Given the description of an element on the screen output the (x, y) to click on. 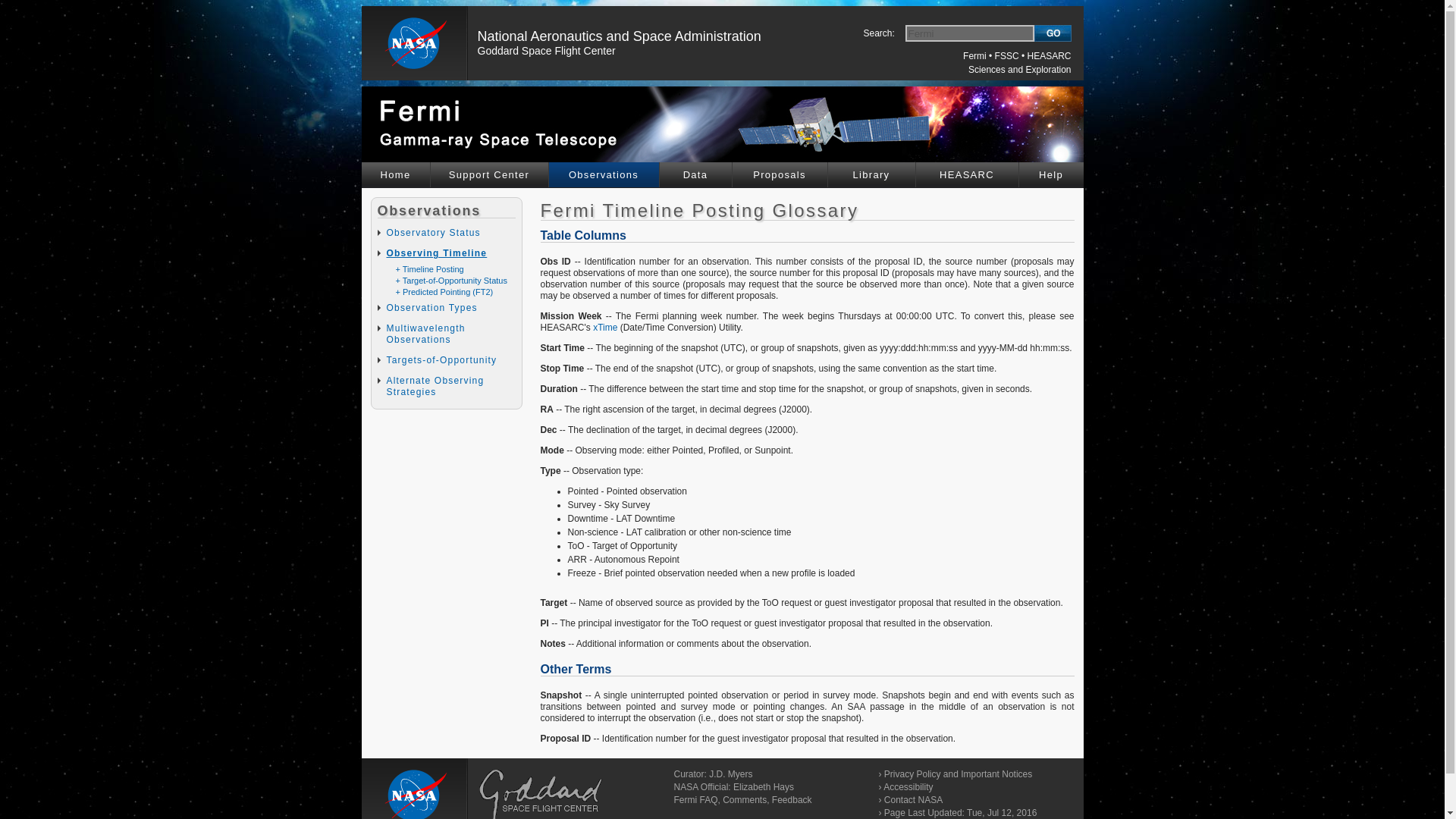
Accessibility (908, 787)
Alternate Observing Strategies (435, 386)
Fermi FAQ, Comments, Feedback (741, 799)
Library (871, 174)
Contact NASA (912, 799)
Observing Timeline (437, 253)
search field (969, 33)
Help (1051, 174)
HEASARC (1048, 55)
Support Center (489, 174)
Targets-of-Opportunity (442, 359)
Home (395, 174)
Fermi (974, 55)
Sciences and Exploration (1019, 69)
Data (695, 174)
